Given the description of an element on the screen output the (x, y) to click on. 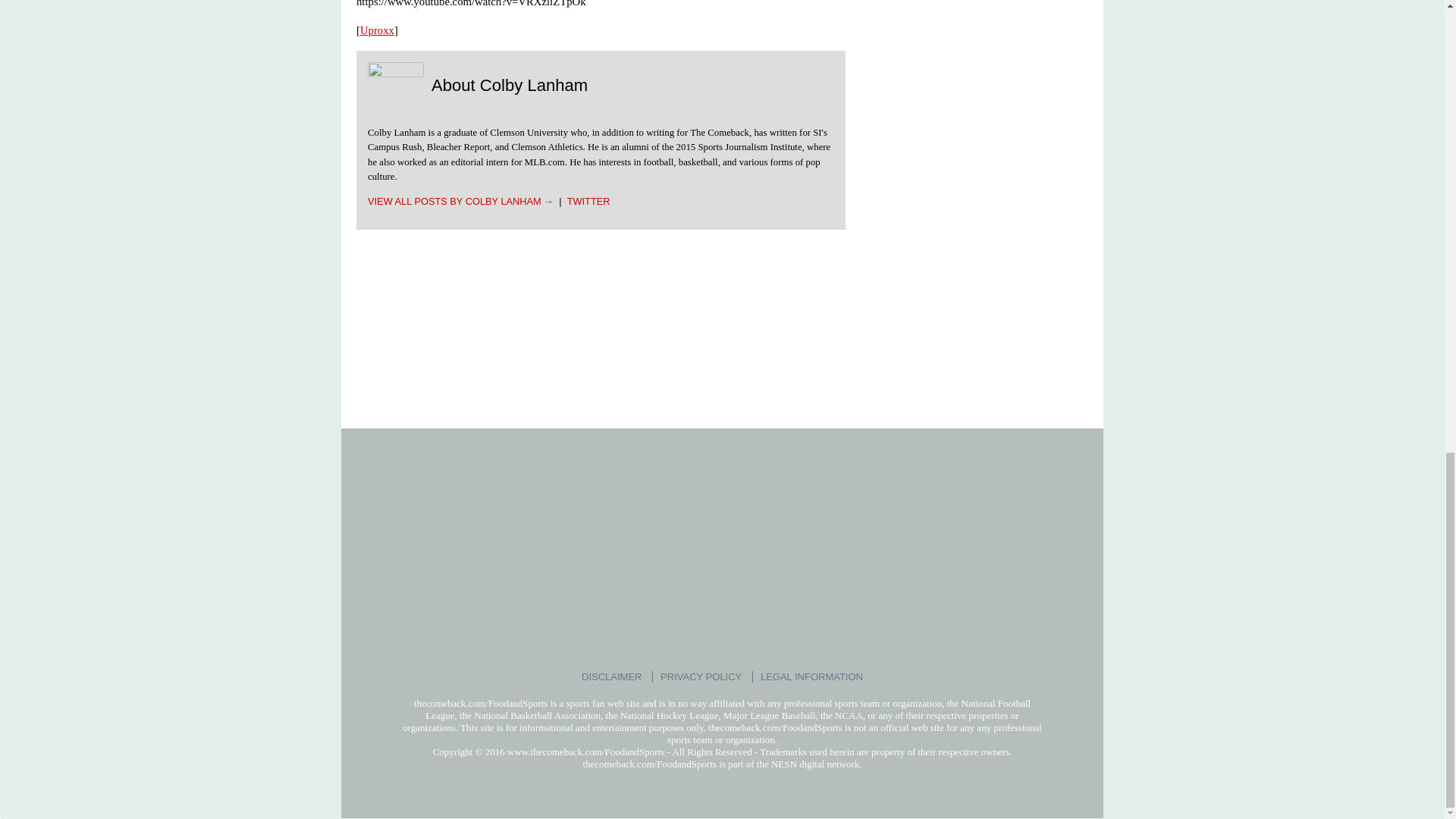
TWITTER (588, 201)
LEGAL INFORMATION (811, 676)
Uproxx (376, 30)
DISCLAIMER (611, 676)
PRIVACY POLICY (701, 676)
